Given the description of an element on the screen output the (x, y) to click on. 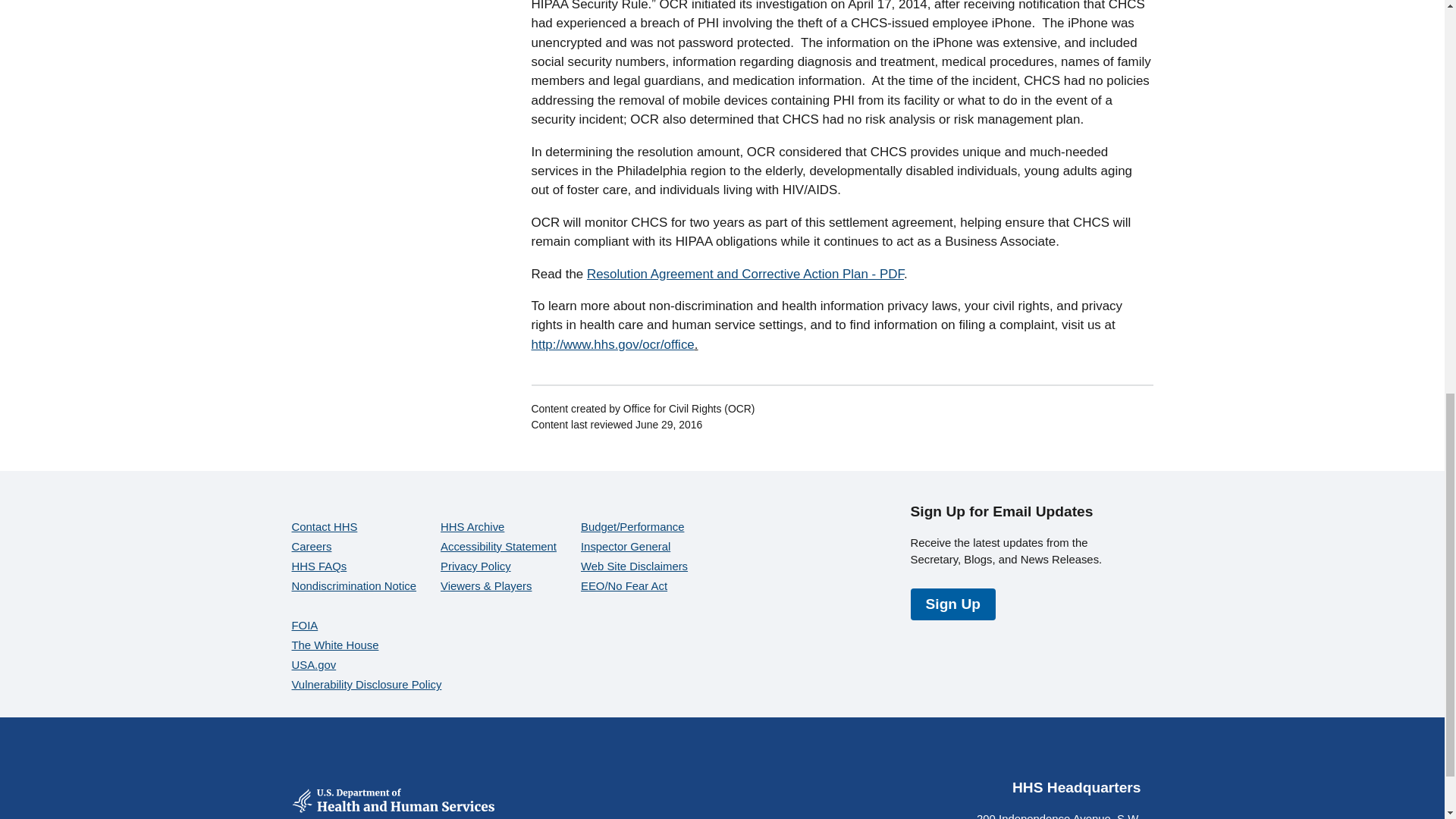
Visit the HHS YouTube account (1055, 753)
Visit the HHS Instagram account (1091, 753)
Visit the HHS Facebook account (982, 753)
Visit the HHS X account (1018, 753)
Visit the HHS LinkedIn account (1128, 753)
